Given the description of an element on the screen output the (x, y) to click on. 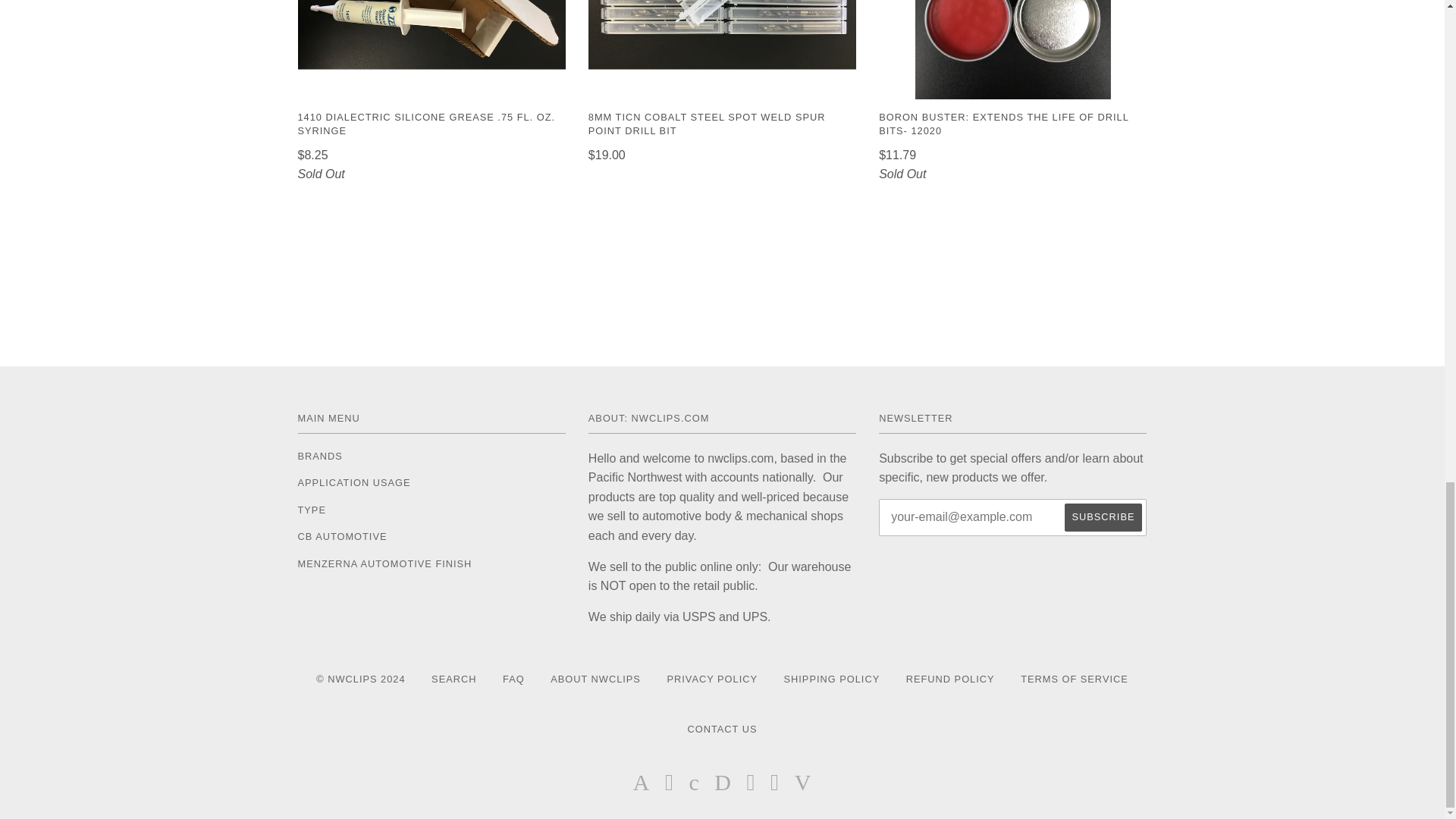
Subscribe (1103, 517)
